Given the description of an element on the screen output the (x, y) to click on. 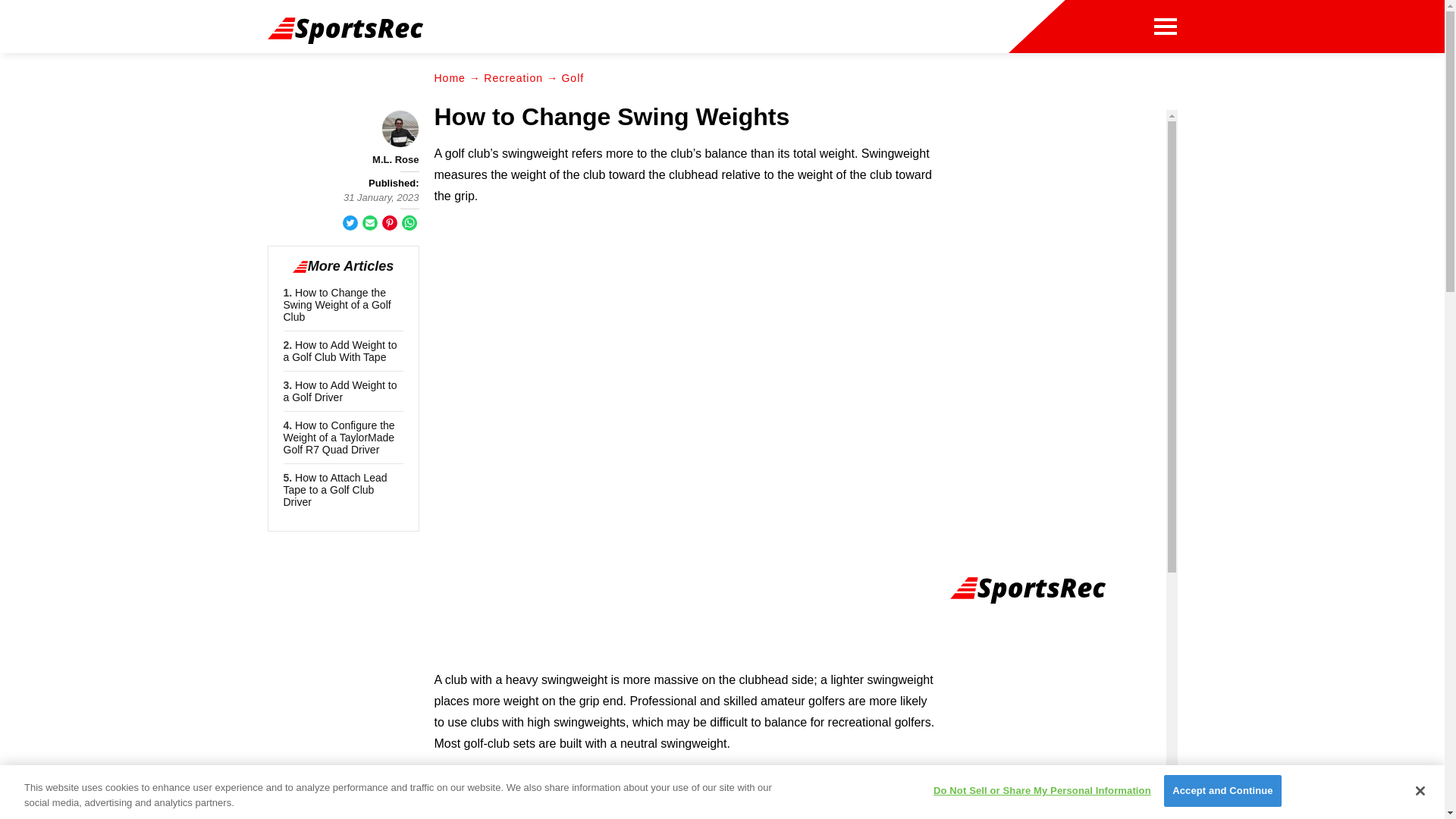
Home (448, 78)
3rd party ad content (1062, 204)
3rd party ad content (794, 30)
How to Change the Swing Weight of a Golf Club (337, 304)
How to Add Weight to a Golf Club With Tape (340, 351)
How to Add Weight to a Golf Driver (340, 391)
3rd party ad content (683, 325)
3rd party ad content (1062, 714)
Advertisement (684, 551)
Recreation (513, 78)
How to Attach Lead Tape to a Golf Club Driver (335, 489)
